Given the description of an element on the screen output the (x, y) to click on. 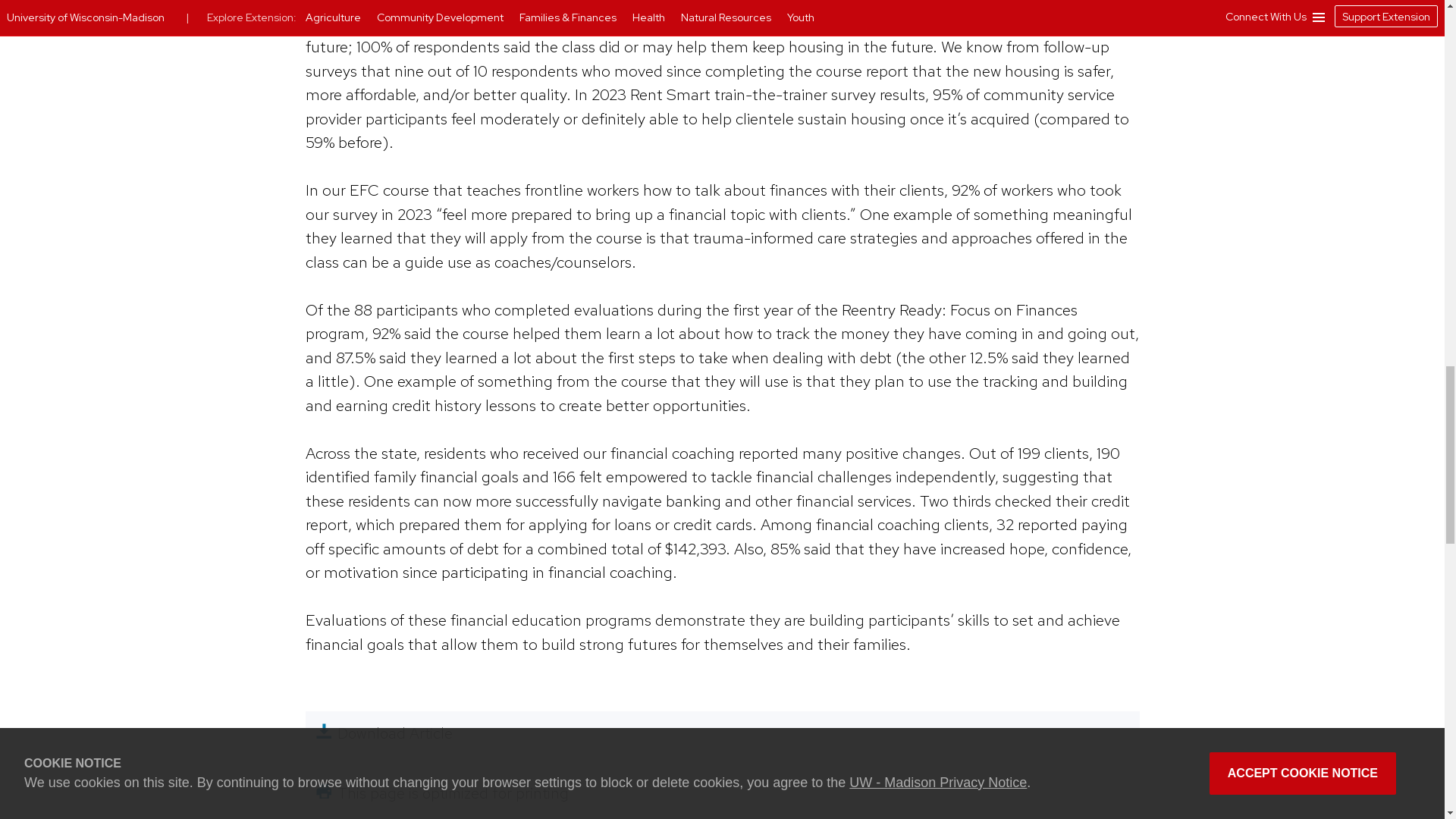
Download Article (721, 733)
Download Article (721, 733)
This page is optimized for printing (721, 792)
